Given the description of an element on the screen output the (x, y) to click on. 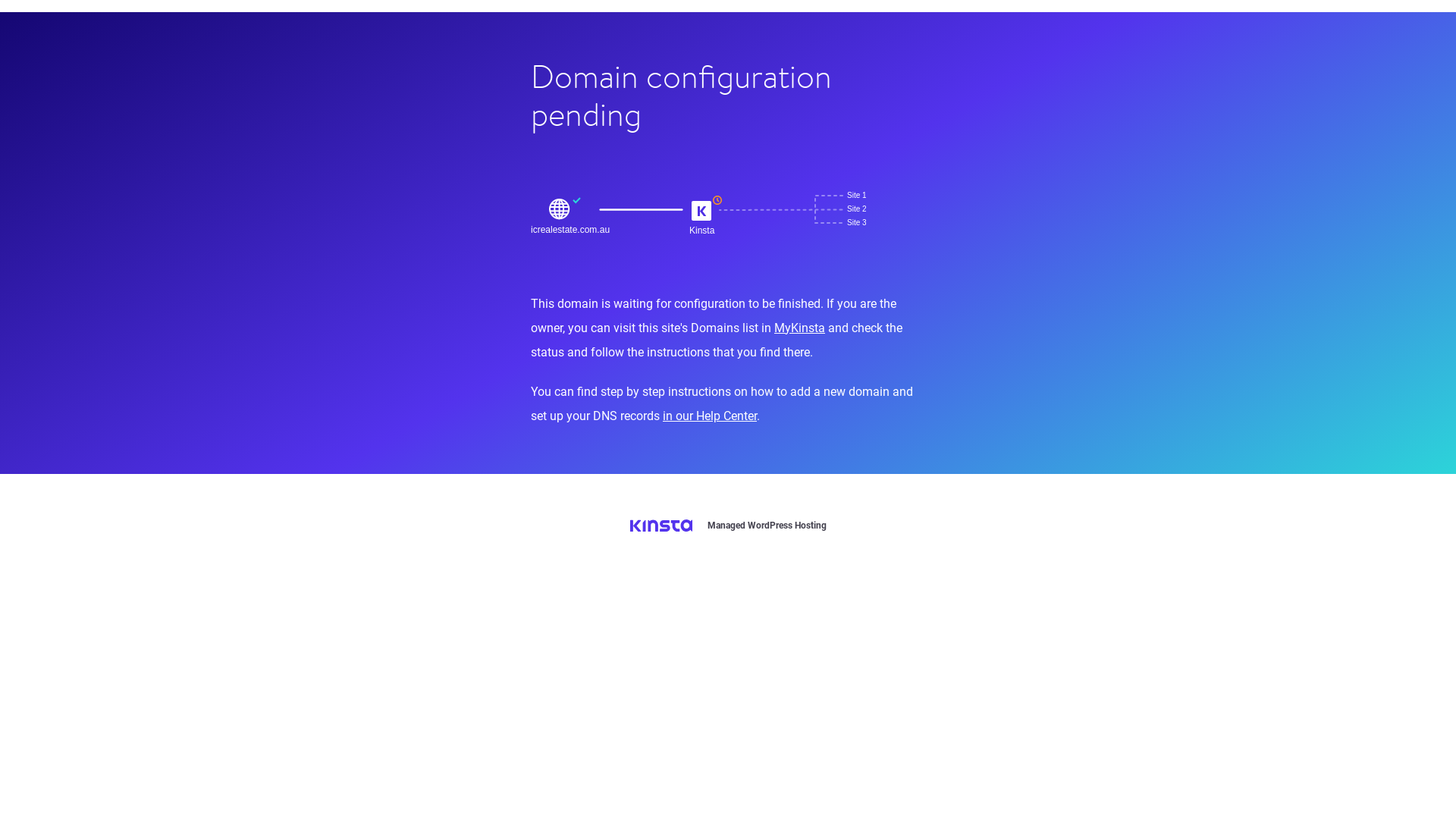
Kinsta logo Element type: hover (660, 525)
MyKinsta Element type: text (799, 327)
in our Help Center Element type: text (709, 415)
